Given the description of an element on the screen output the (x, y) to click on. 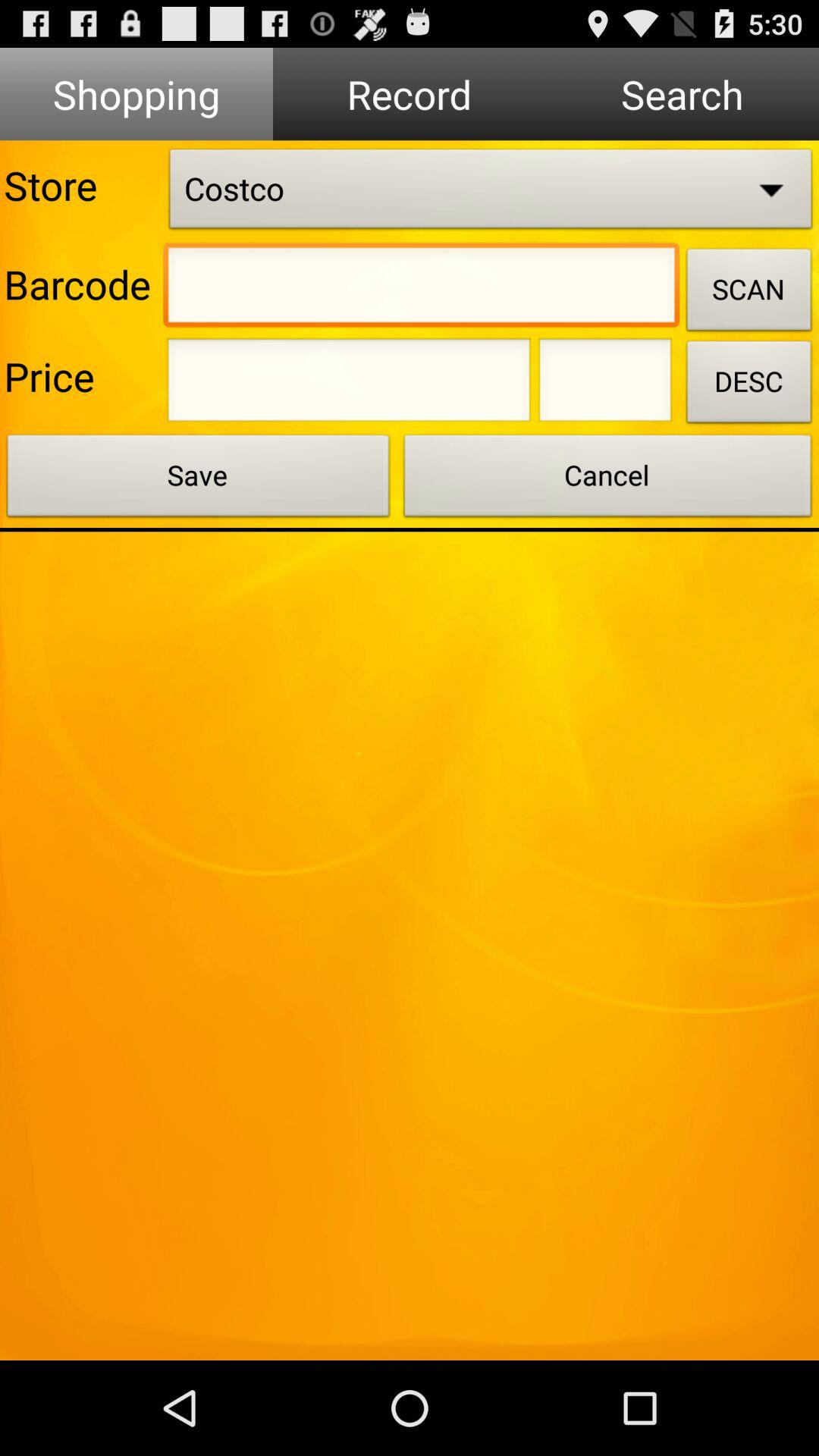
address page (604, 384)
